Given the description of an element on the screen output the (x, y) to click on. 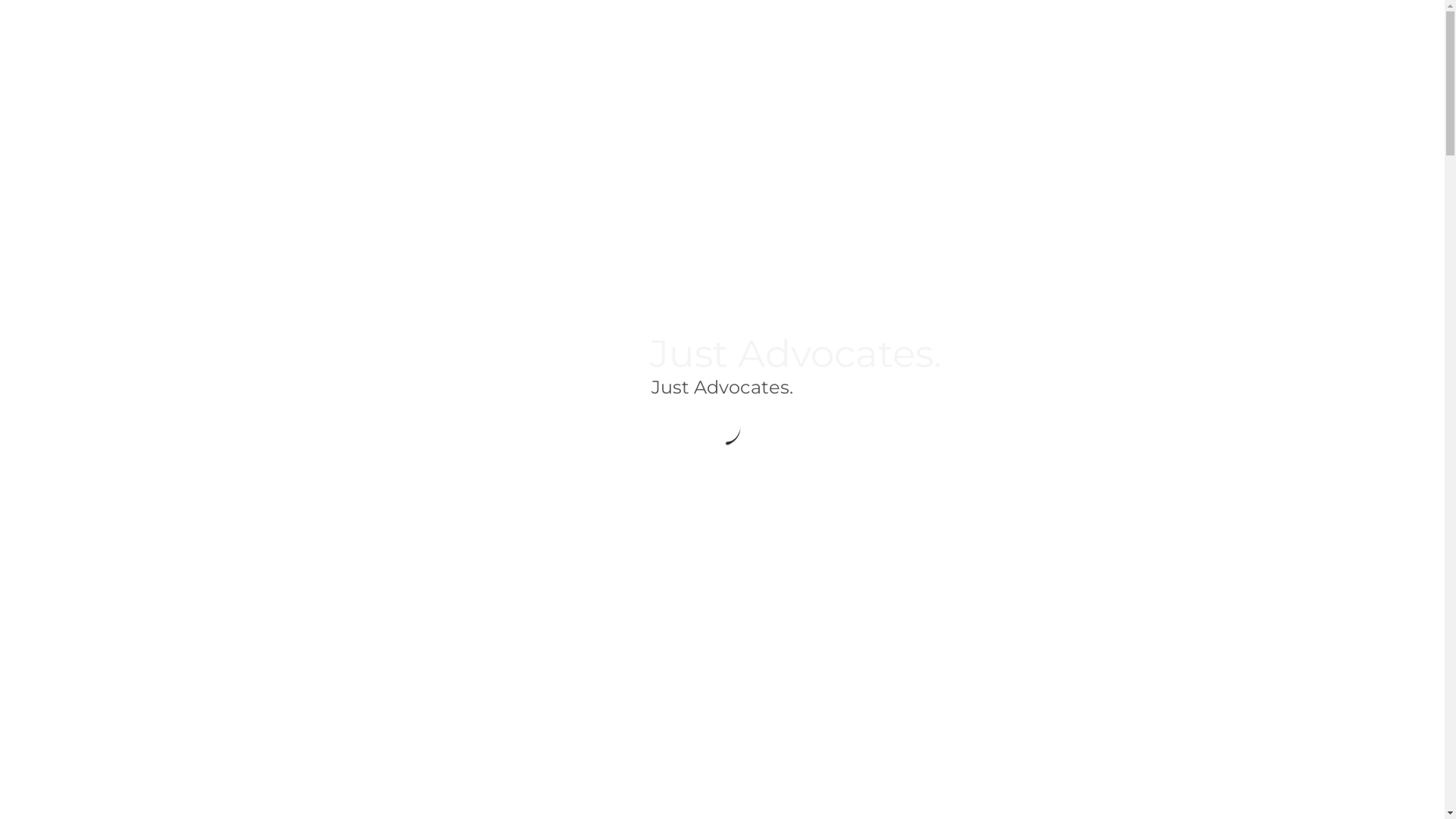
SEE WHAT WE CAN DO FOR YOU Element type: text (721, 503)
